Given the description of an element on the screen output the (x, y) to click on. 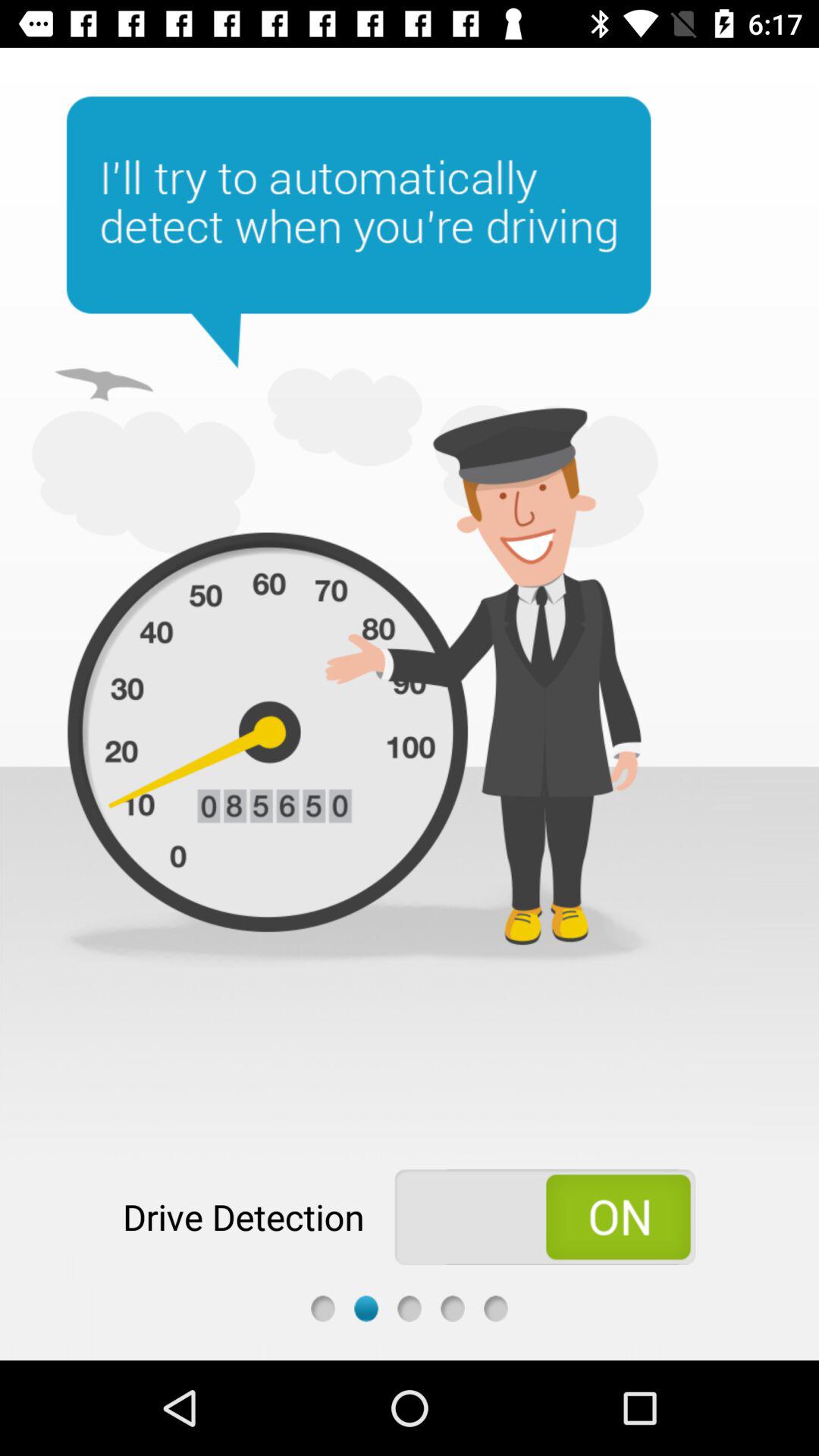
move back one slide (322, 1308)
